Given the description of an element on the screen output the (x, y) to click on. 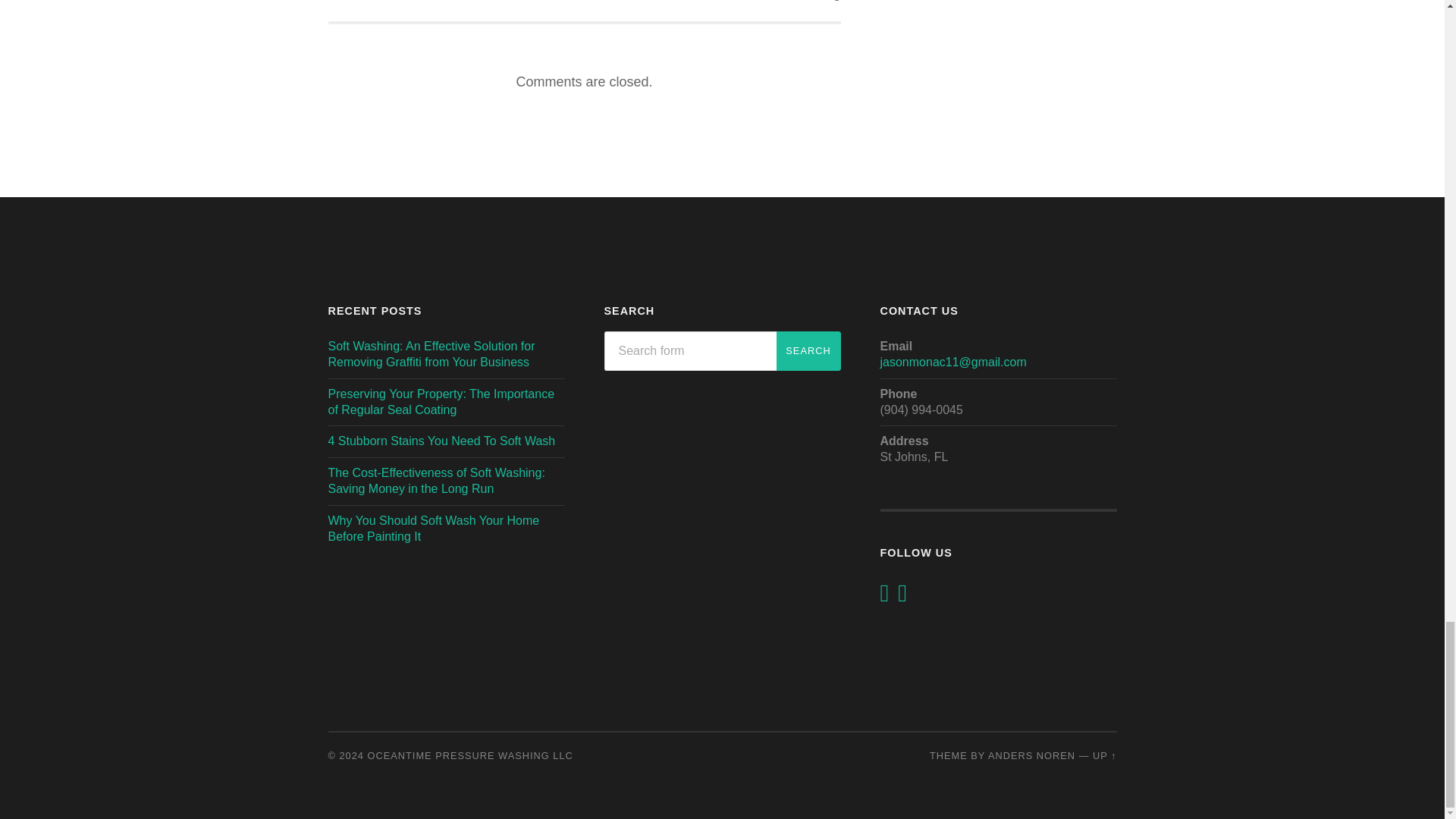
Search (808, 351)
4 Stubborn Stains You Need To Soft Wash (440, 440)
Next post: (714, 10)
Search (808, 351)
To the top (1104, 755)
OCEANTIME PRESSURE WASHING LLC (470, 755)
ANDERS NOREN (1031, 755)
Why You Should Soft Wash Your Home Before Painting It (448, 2)
Oceantime Pressure Washing LLC (432, 528)
